Given the description of an element on the screen output the (x, y) to click on. 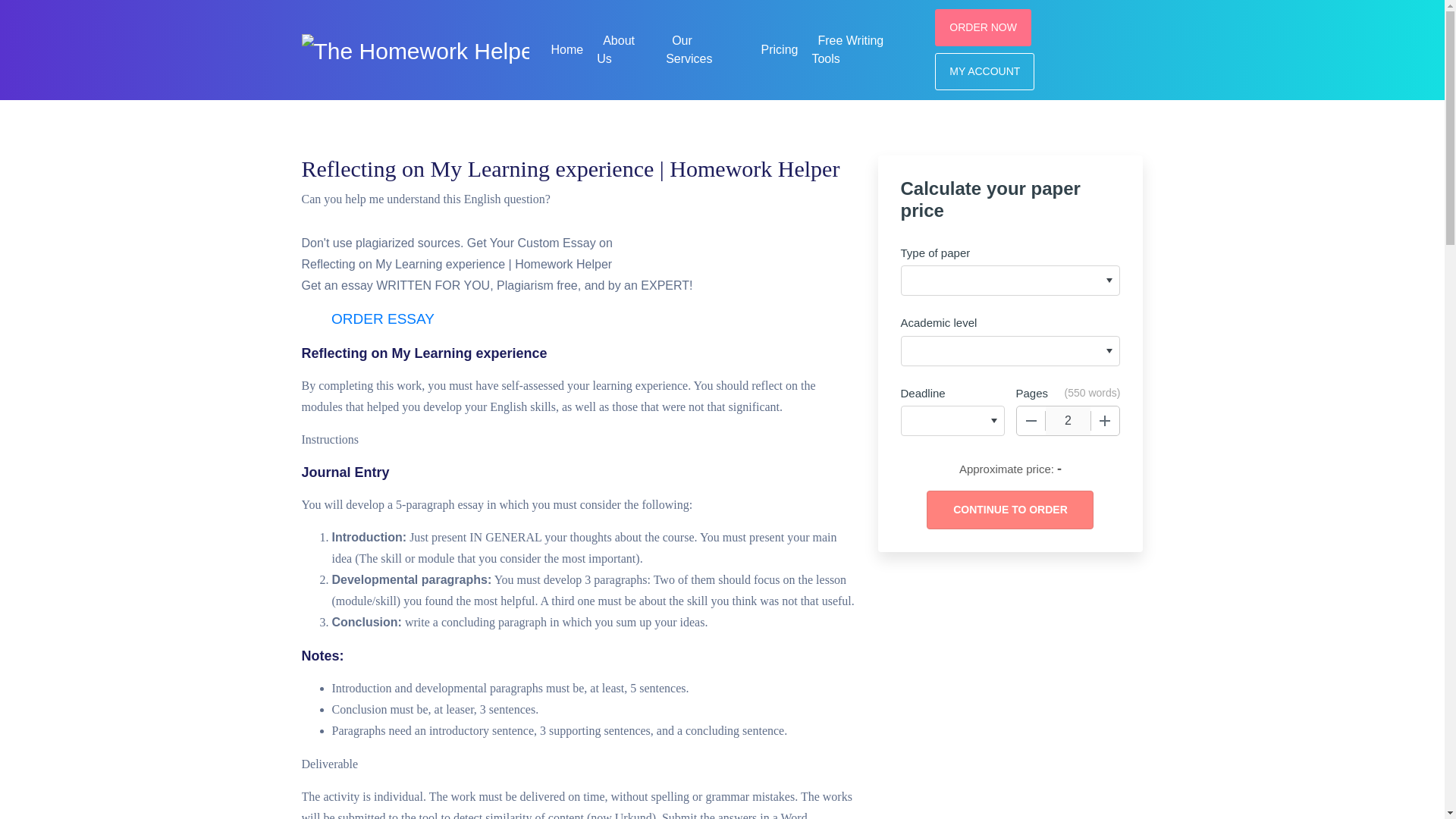
Continue to order (1009, 509)
Home (566, 47)
Free Writing Tools (846, 47)
ORDER NOW (982, 27)
About Us (615, 47)
ORDER ESSAY (382, 319)
2 (1067, 420)
Our Services (691, 47)
MY ACCOUNT (983, 71)
Home (566, 47)
Increase (1104, 420)
Decrease (1030, 420)
Continue to order (1009, 509)
Pricing (780, 47)
Our Services (691, 47)
